Given the description of an element on the screen output the (x, y) to click on. 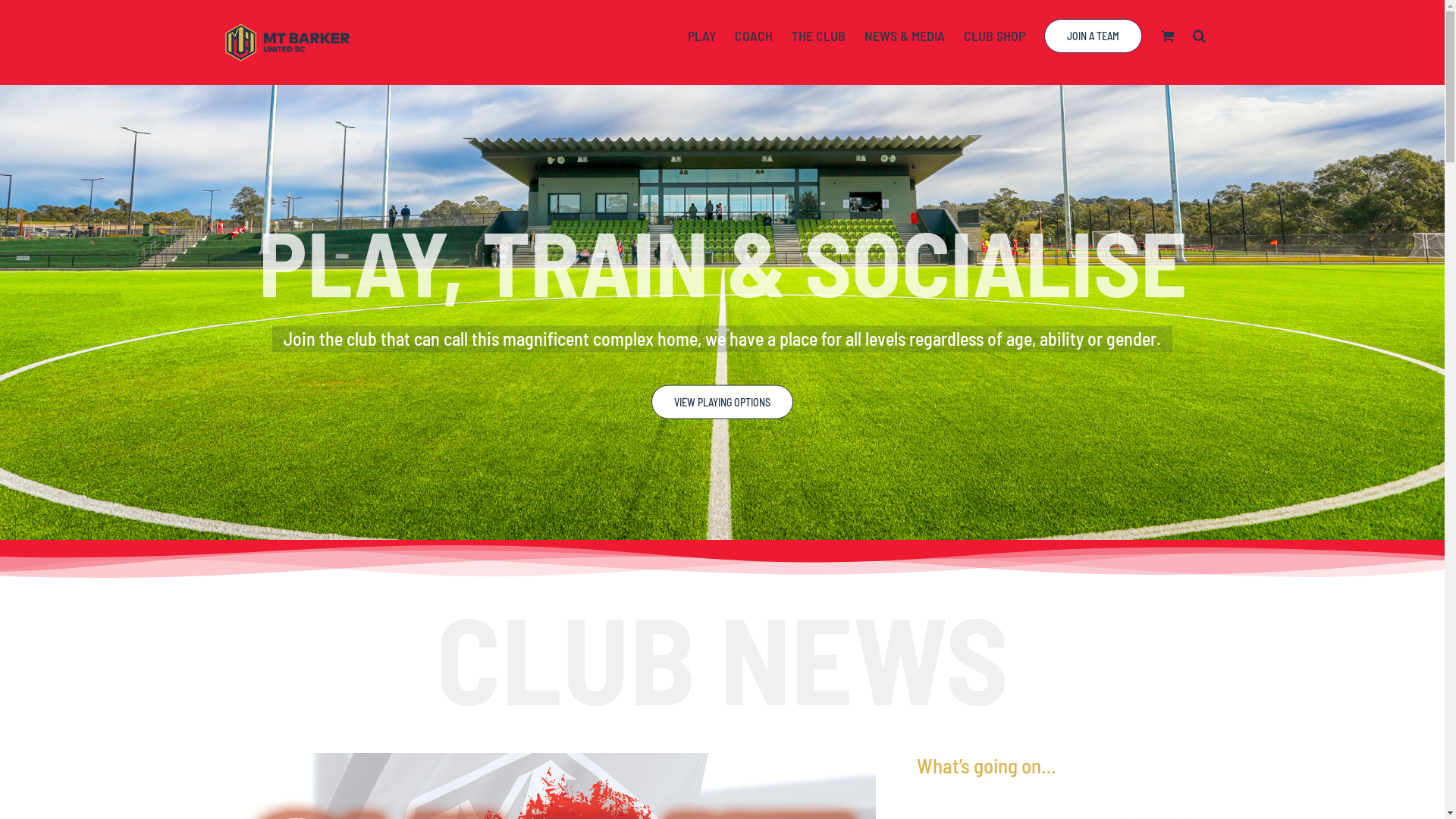
COACH Element type: text (753, 35)
NEWS & MEDIA Element type: text (904, 35)
JOIN A TEAM Element type: text (1093, 35)
Search Element type: hover (1198, 35)
THE CLUB Element type: text (818, 35)
VIEW PLAYING OPTIONS Element type: text (722, 409)
CLUB SHOP Element type: text (994, 35)
PLAY Element type: text (701, 35)
